Given the description of an element on the screen output the (x, y) to click on. 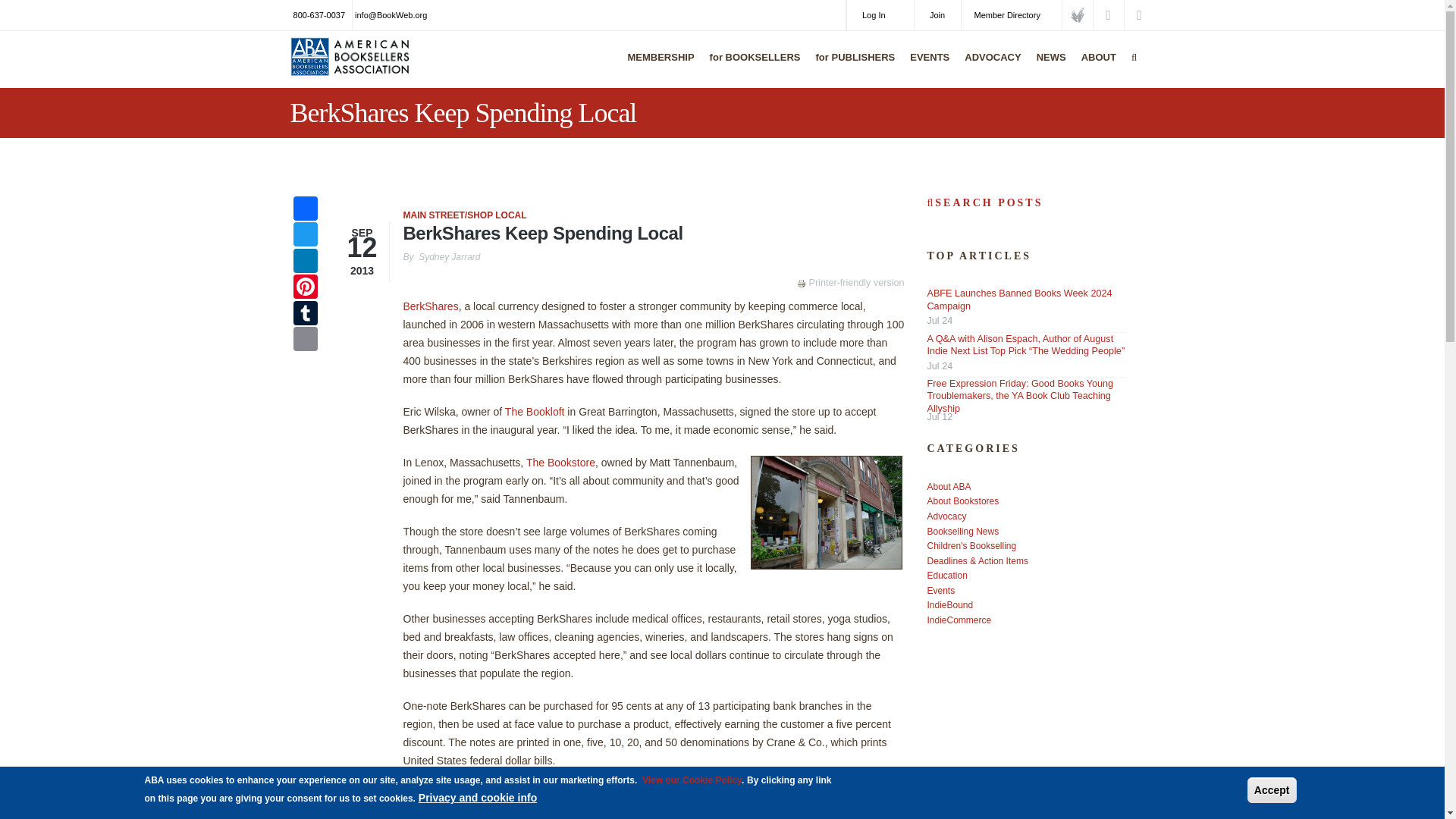
View our Cookie Policy (691, 779)
Log In (880, 15)
for BOOKSELLERS (751, 66)
EVENTS (925, 66)
Join (937, 15)
MEMBERSHIP (656, 66)
MEMBERSHIP (656, 66)
ADVOCACY (989, 66)
for PUBLISHERS (852, 66)
NEWS (1047, 66)
Printer-friendly version (802, 283)
Privacy and cookie info (478, 797)
for BOOKSELLERS (751, 66)
Accept (1272, 790)
